Given the description of an element on the screen output the (x, y) to click on. 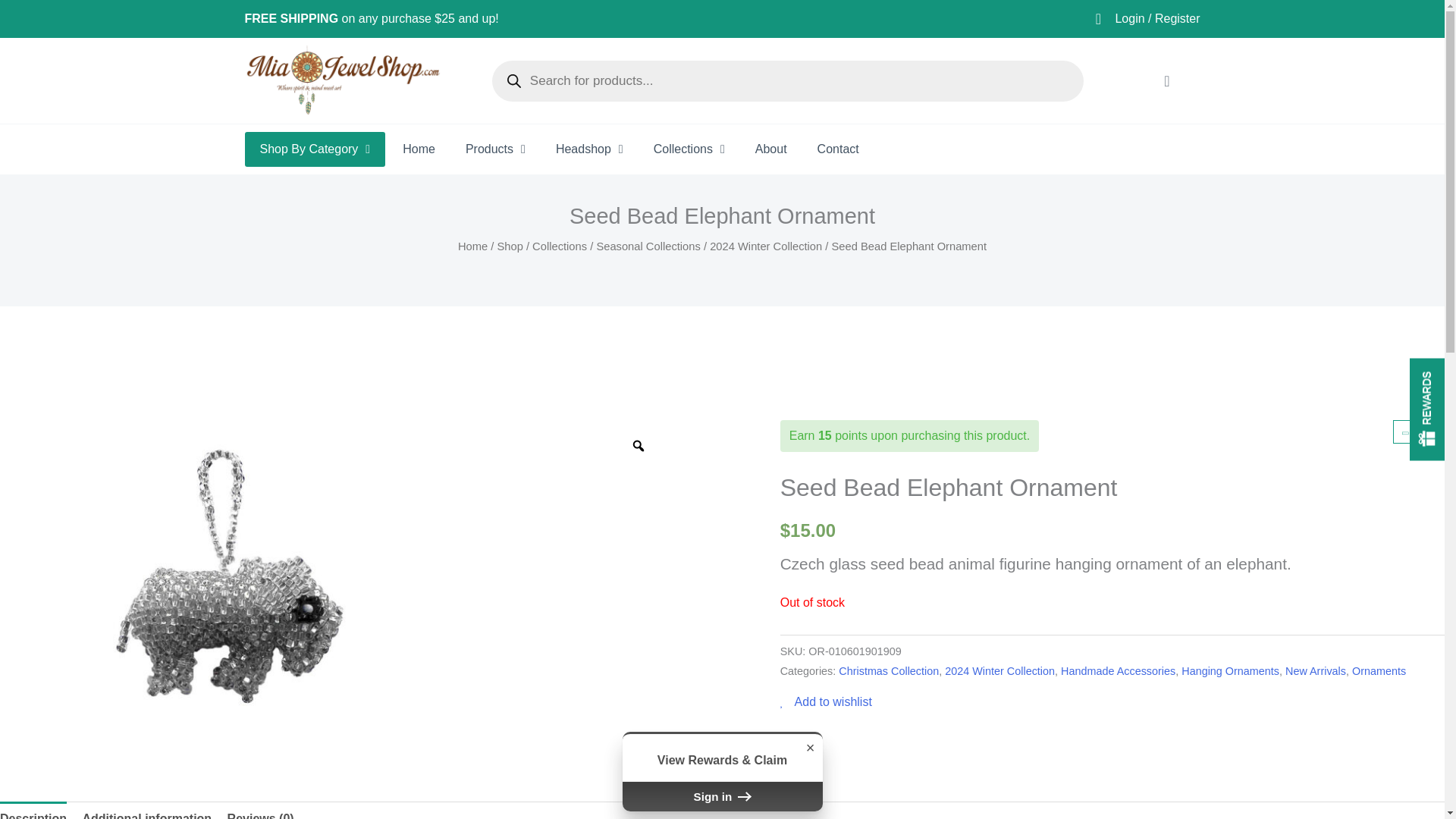
Home (418, 149)
Shop By Category (314, 149)
Products (494, 149)
Collections (689, 149)
Headshop (589, 149)
CART (1166, 80)
